Given the description of an element on the screen output the (x, y) to click on. 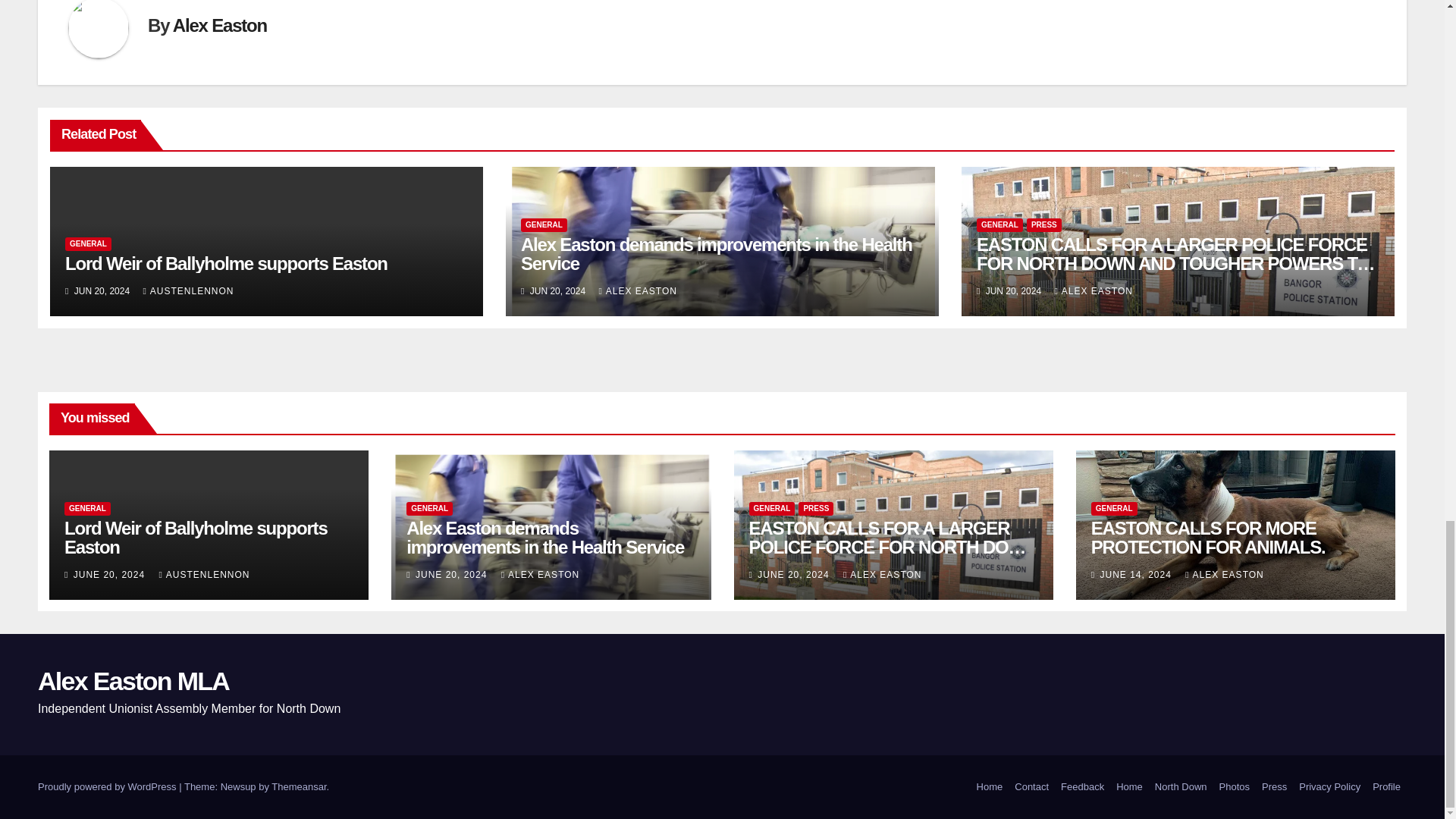
GENERAL (88, 243)
PRESS (1043, 224)
Alex Easton (219, 25)
Alex Easton demands improvements in the Health Service (716, 253)
AUSTENLENNON (187, 290)
GENERAL (544, 224)
Permalink to: Lord Weir of Ballyholme supports Easton (195, 537)
ALEX EASTON (1093, 290)
Lord Weir of Ballyholme supports Easton (226, 263)
ALEX EASTON (637, 290)
GENERAL (999, 224)
